Given the description of an element on the screen output the (x, y) to click on. 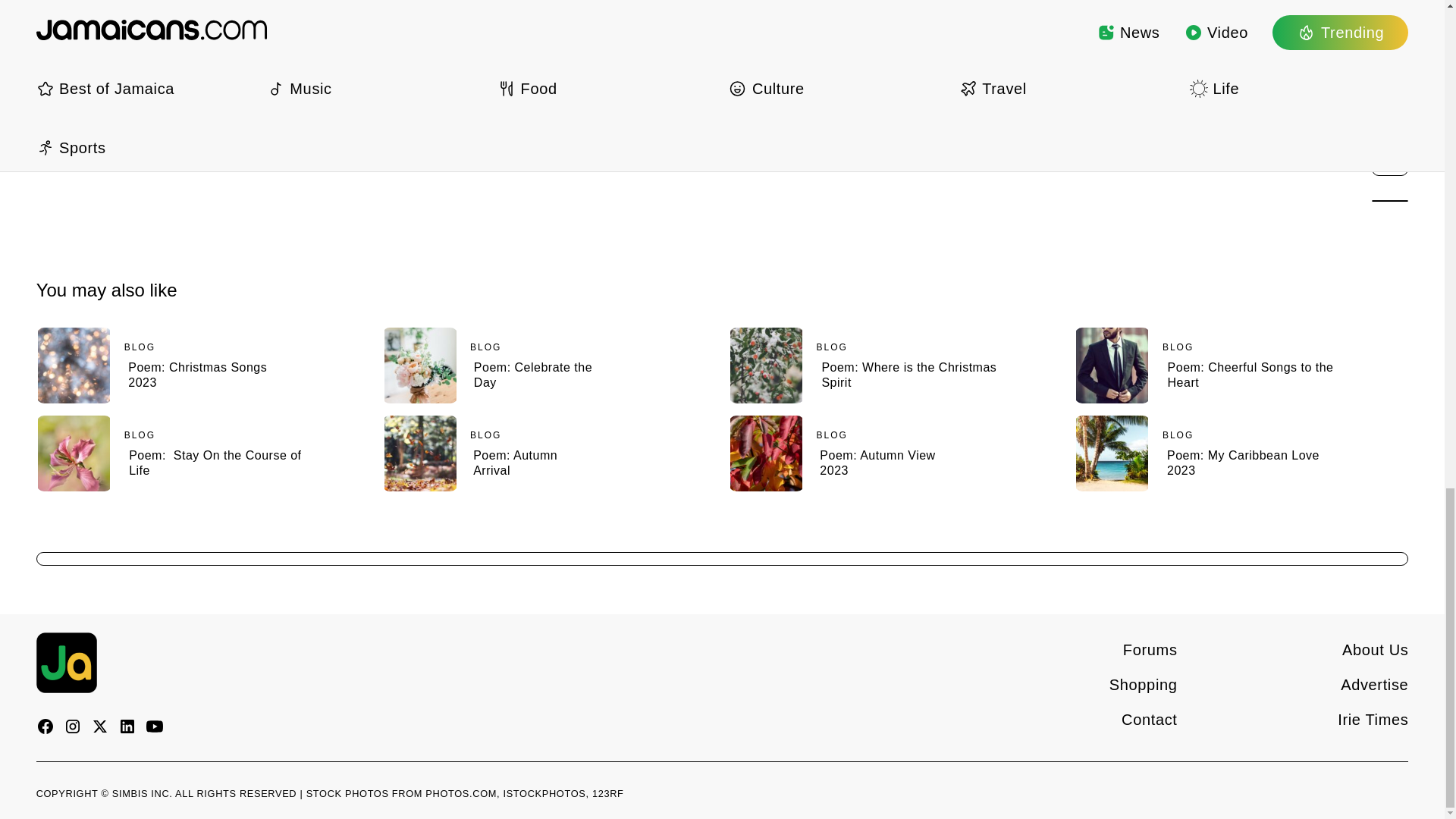
The attempted coup (94, 28)
